Given the description of an element on the screen output the (x, y) to click on. 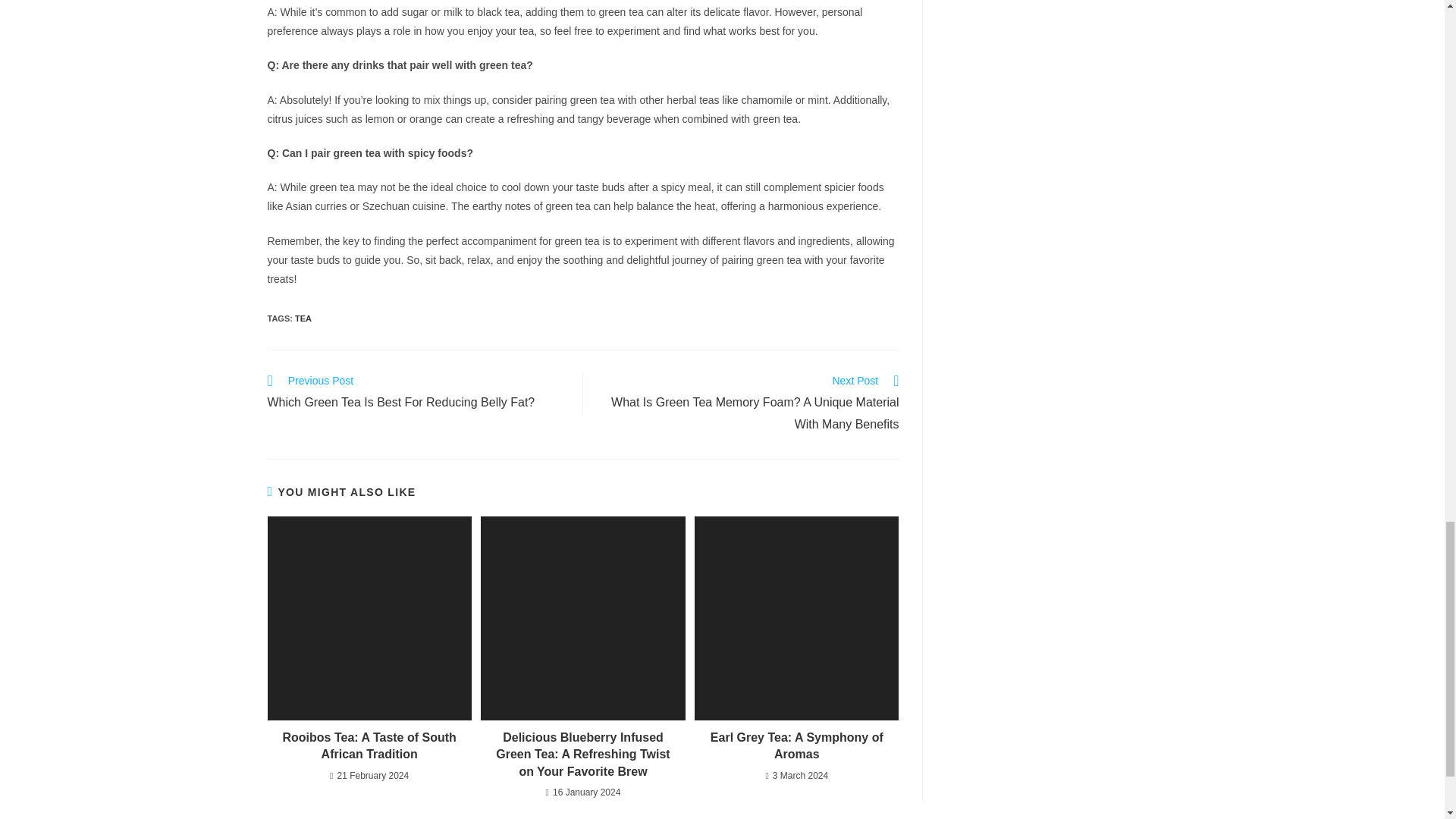
Earl Grey Tea: A Symphony of Aromas (796, 746)
Rooibos Tea: A Taste of South African Tradition (368, 746)
TEA (303, 317)
